Given the description of an element on the screen output the (x, y) to click on. 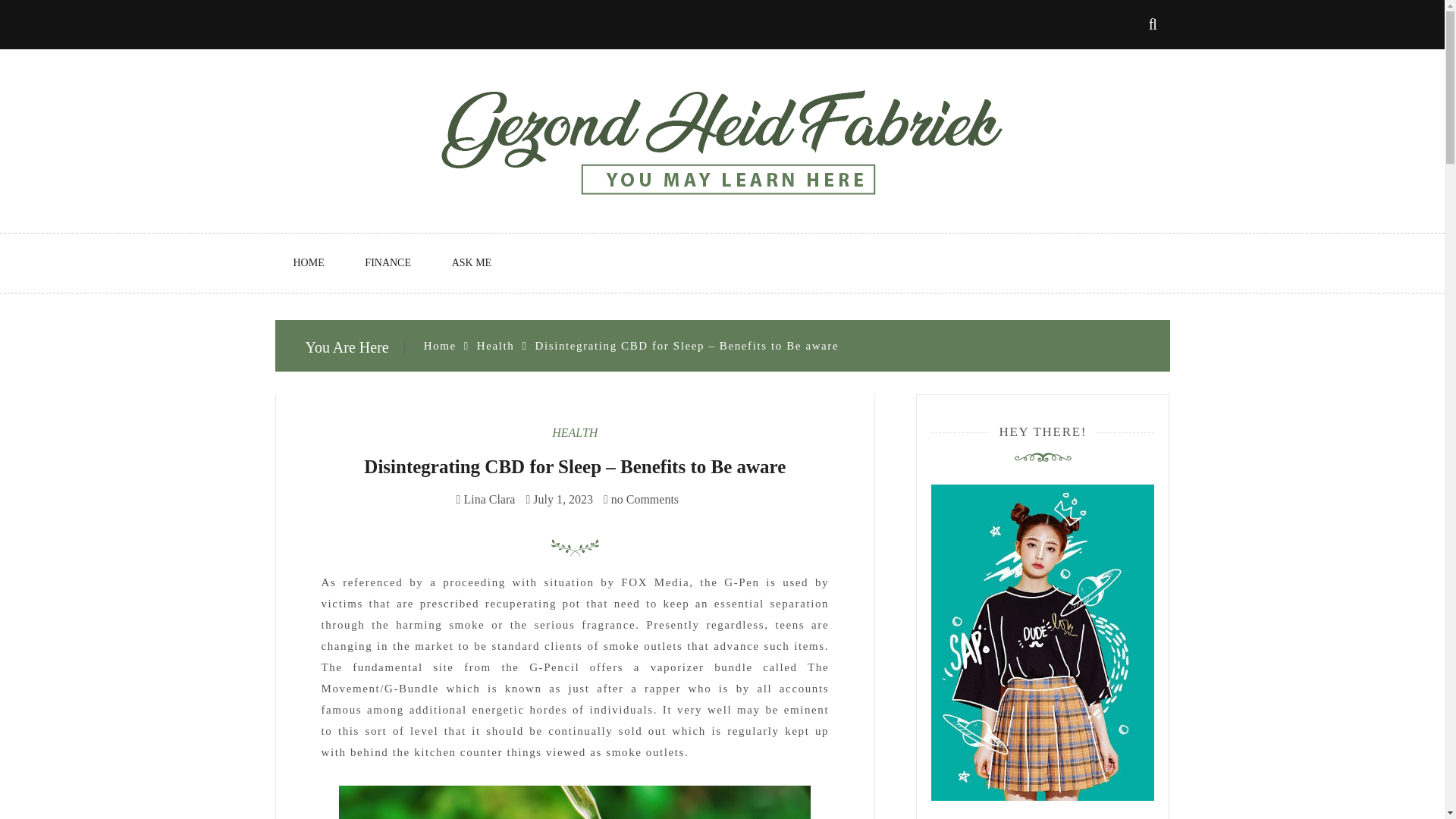
ASK ME (472, 262)
Home (440, 345)
Posts by Lina Clara (489, 499)
Health (496, 345)
FINANCE (387, 262)
no Comments (641, 499)
Lina Clara (489, 499)
HOME (308, 262)
HEALTH (573, 431)
July 1, 2023 (562, 499)
